Given the description of an element on the screen output the (x, y) to click on. 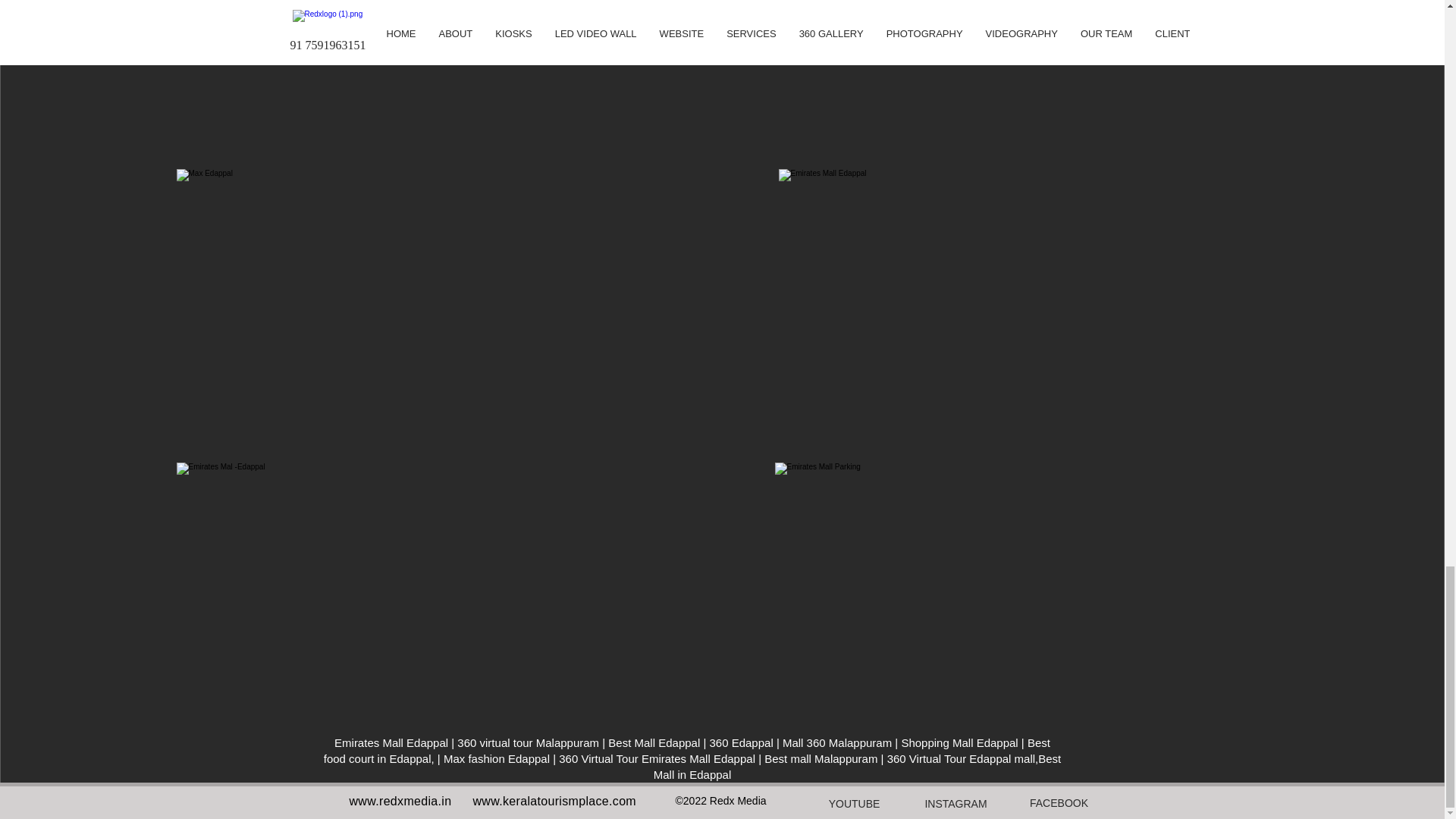
FACEBOOK (1058, 802)
www.redxmedia.in (400, 800)
www.keralatourismplace.com (555, 800)
INSTAGRAM (955, 803)
YOUTUBE (853, 803)
